Given the description of an element on the screen output the (x, y) to click on. 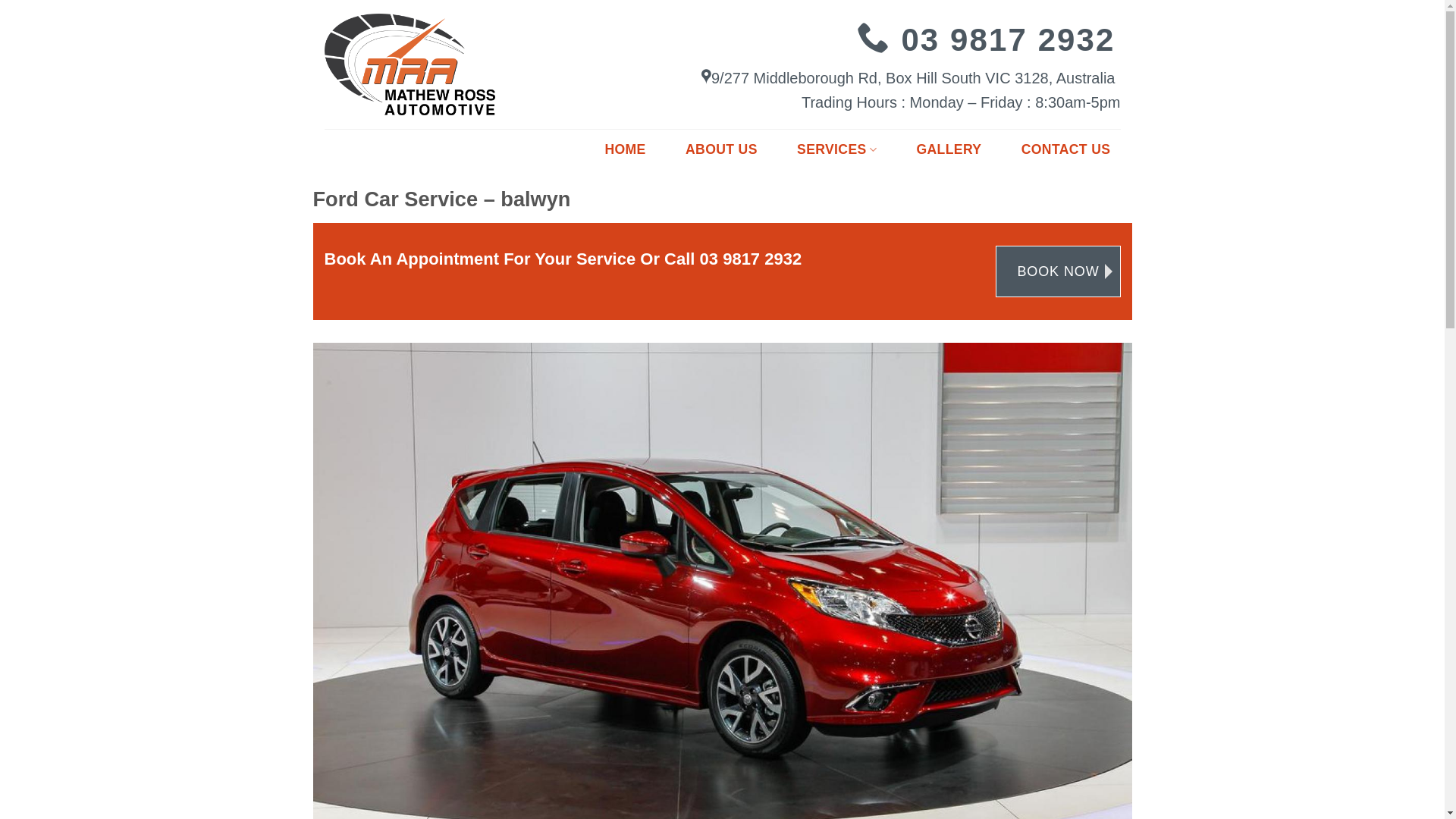
ABOUT US Element type: text (721, 149)
03 9817 2932 Element type: text (1007, 39)
BOOK NOW Element type: text (1057, 271)
SERVICES Element type: text (836, 149)
CONTACT US Element type: text (1065, 149)
HOME Element type: text (624, 149)
03 9817 2932 Element type: text (750, 258)
GALLERY Element type: text (948, 149)
